Given the description of an element on the screen output the (x, y) to click on. 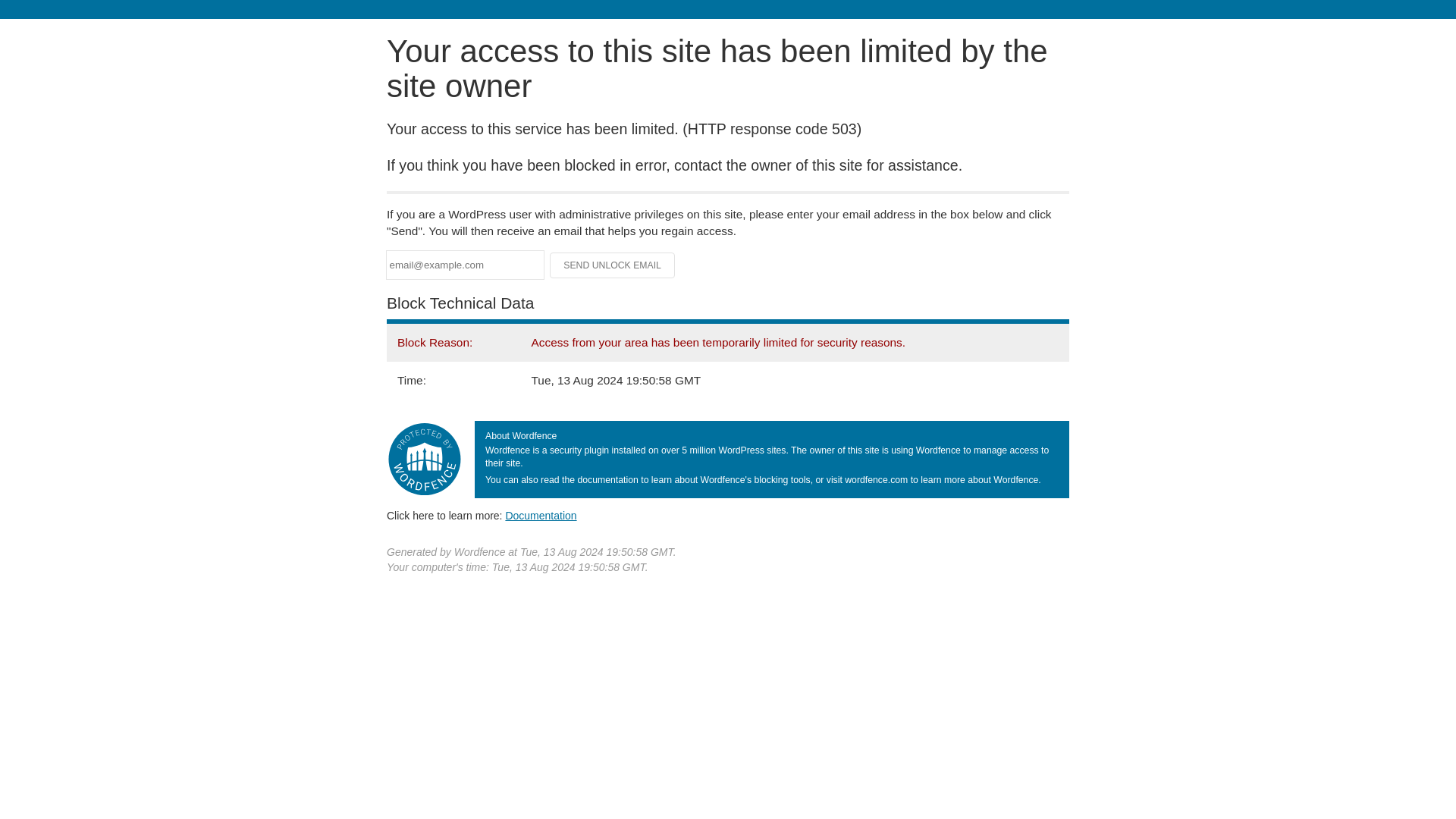
Send Unlock Email (612, 265)
Send Unlock Email (612, 265)
Documentation (540, 515)
